Given the description of an element on the screen output the (x, y) to click on. 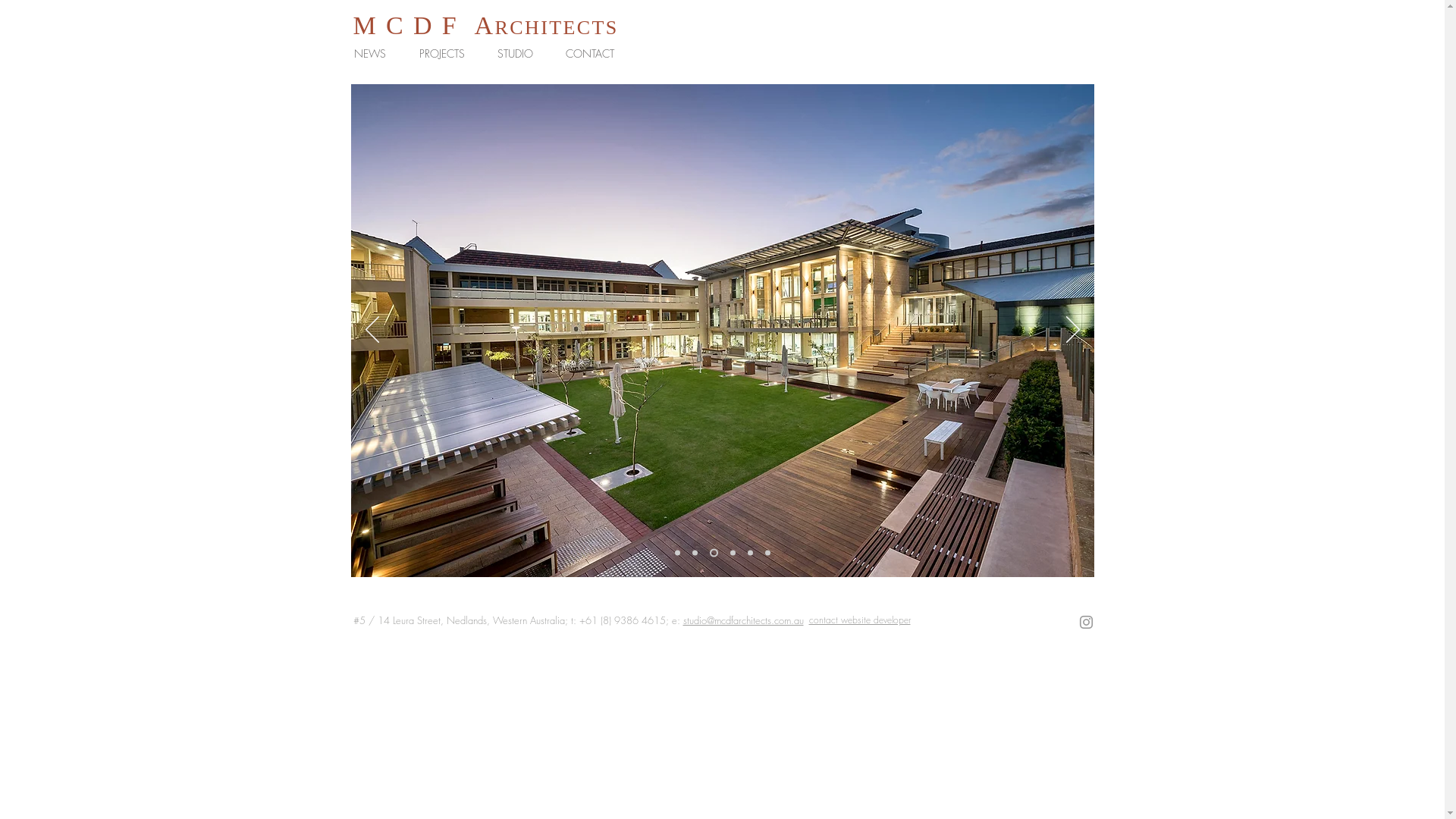
NEWS Element type: text (374, 53)
contact website developer Element type: text (859, 619)
A Element type: text (484, 25)
STUDIO Element type: text (519, 53)
PROJECTS Element type: text (446, 53)
studio@mcdfarchitects.com.au Element type: text (742, 620)
CONTACT Element type: text (593, 53)
RCHITECTS Element type: text (556, 27)
  Element type: text (465, 25)
M C D F Element type: text (405, 25)
